Given the description of an element on the screen output the (x, y) to click on. 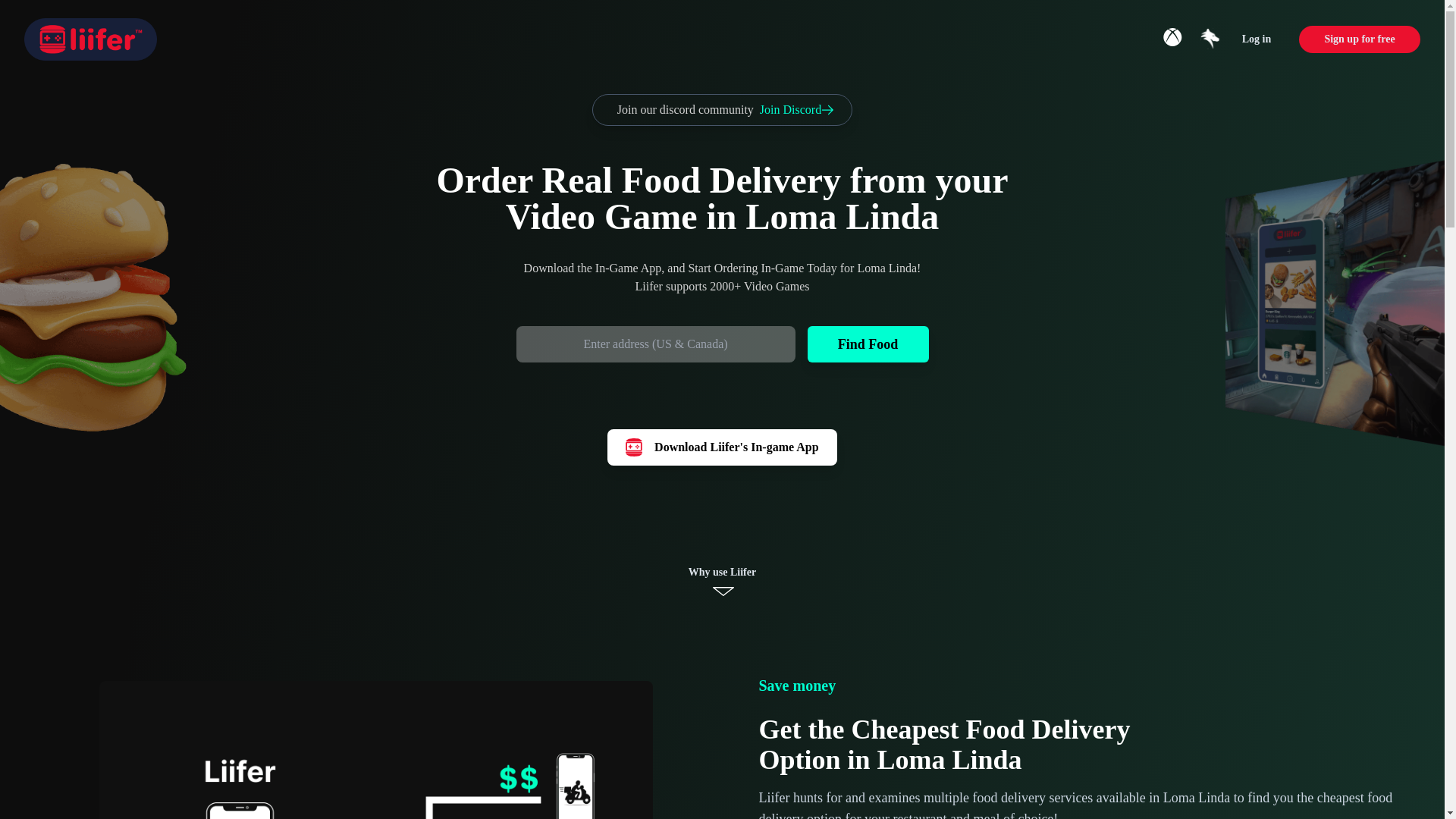
Why use Liifer (721, 581)
Find Food (867, 343)
Log in (721, 110)
Download Liifer's In-game App (1256, 39)
Sign up for free (721, 447)
